Given the description of an element on the screen output the (x, y) to click on. 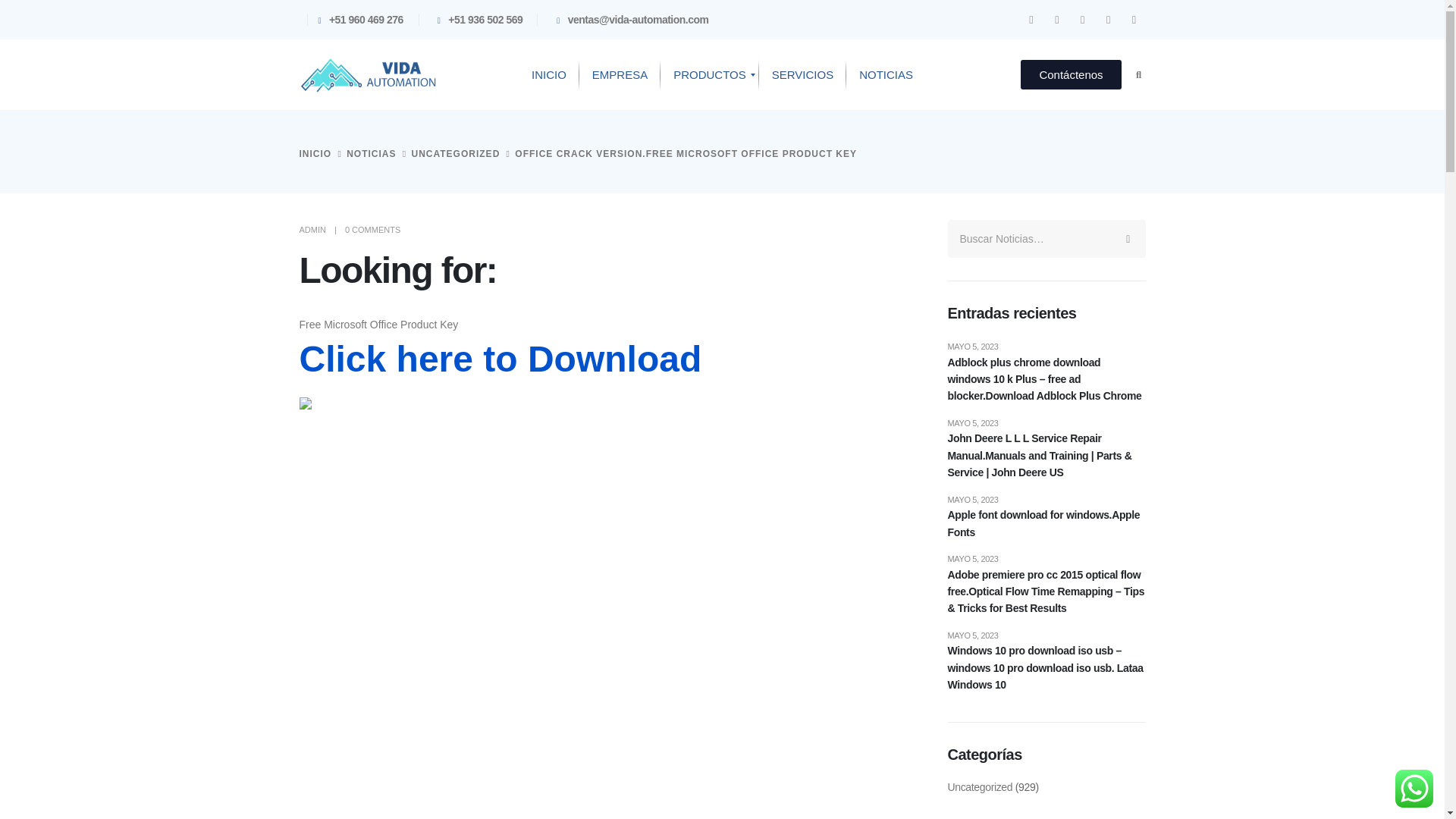
Facebook (1082, 19)
EMPRESA (620, 75)
LinkedIn (1031, 19)
INICIO (548, 75)
0 COMMENTS (372, 229)
Skype (1134, 19)
Entradas de admin (311, 229)
Instagram (1056, 19)
Youtube (1108, 19)
